Given the description of an element on the screen output the (x, y) to click on. 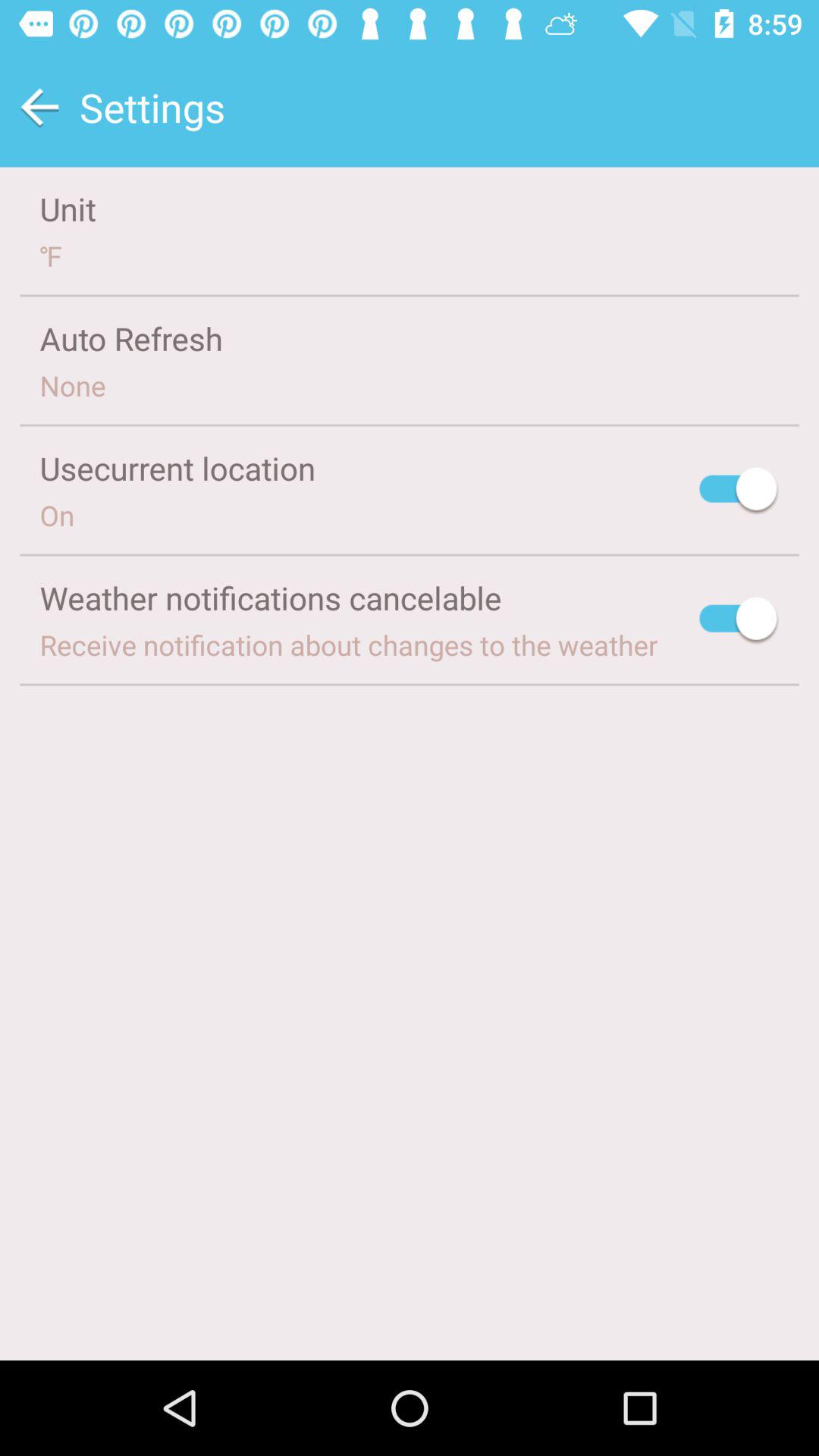
press the icon to the right of weather notifications cancelable icon (739, 620)
